Given the description of an element on the screen output the (x, y) to click on. 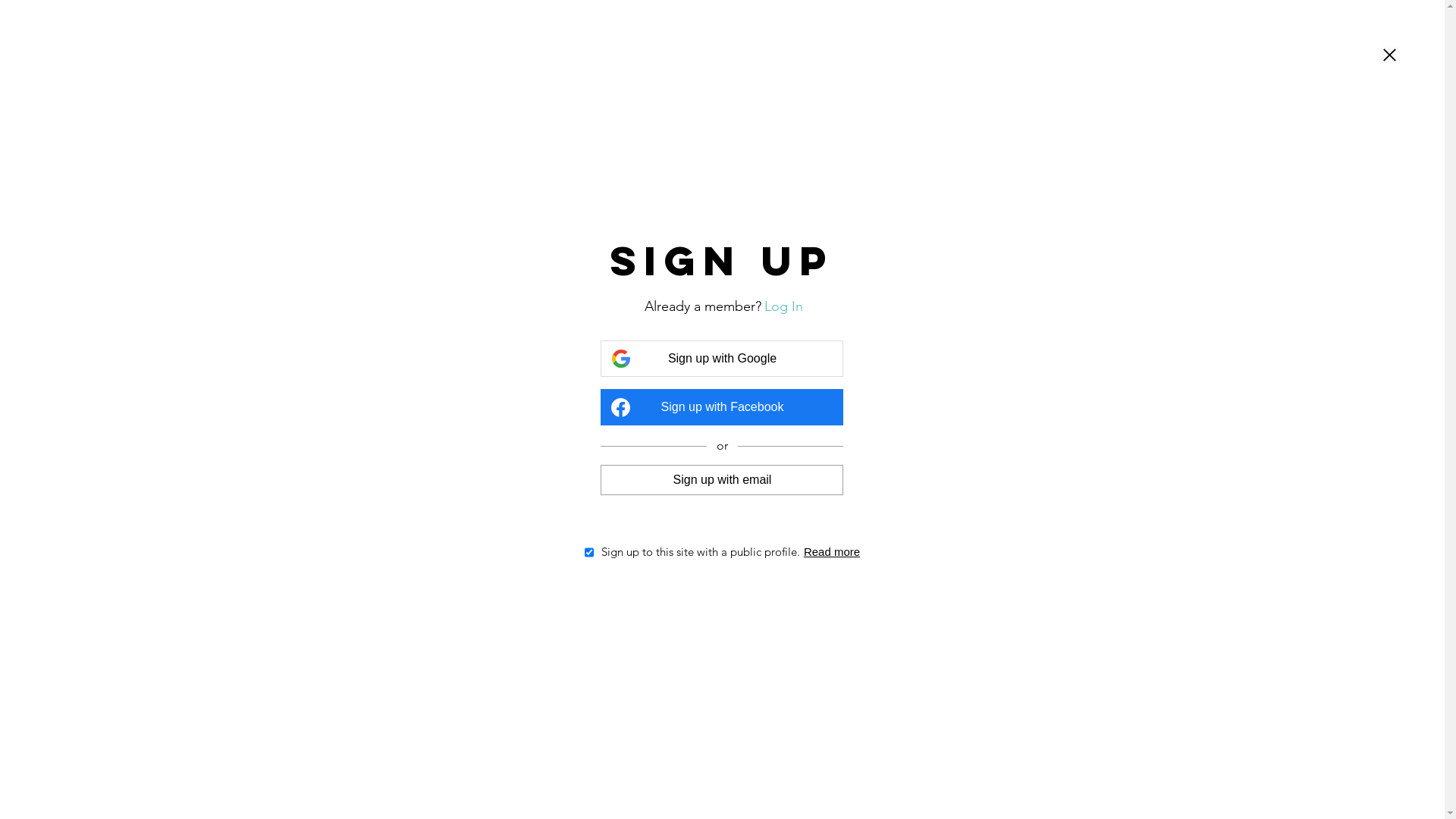
Log In Element type: text (783, 306)
Read more Element type: text (831, 551)
Sign up with email Element type: text (721, 479)
Sign up with Google Element type: text (721, 358)
Sign up with Facebook Element type: text (721, 407)
